Given the description of an element on the screen output the (x, y) to click on. 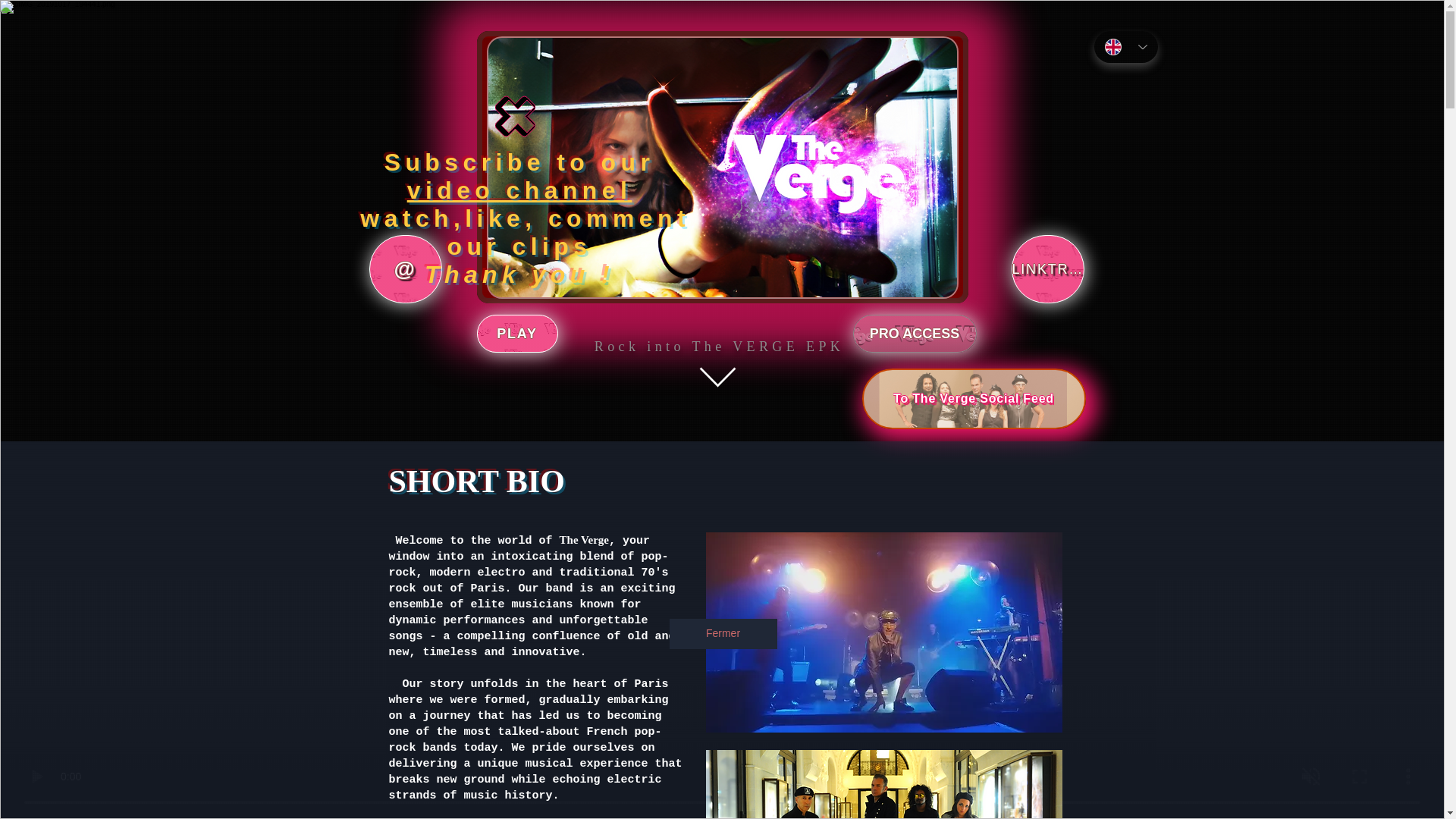
Back to site (514, 116)
To The Verge Social Feed (972, 398)
Enter The Verge EPK (717, 380)
The Verge - Boodjie (882, 632)
video channel (519, 189)
PLAY (516, 333)
LINKTREE (1047, 269)
The Verge - Boodjie (882, 784)
PRO ACCESS (913, 333)
